Given the description of an element on the screen output the (x, y) to click on. 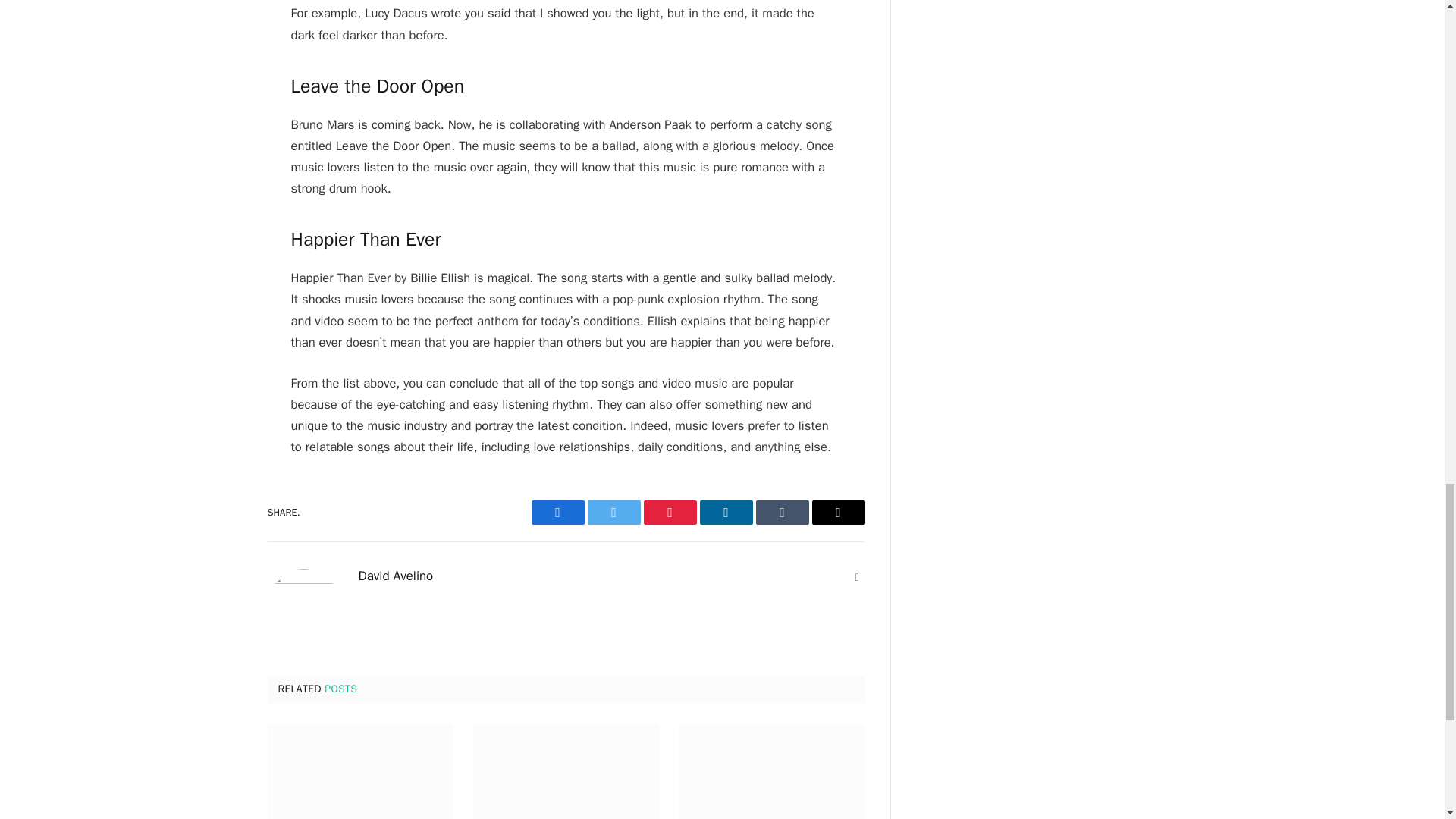
Facebook (557, 512)
Pinterest (669, 512)
Twitter (613, 512)
